Given the description of an element on the screen output the (x, y) to click on. 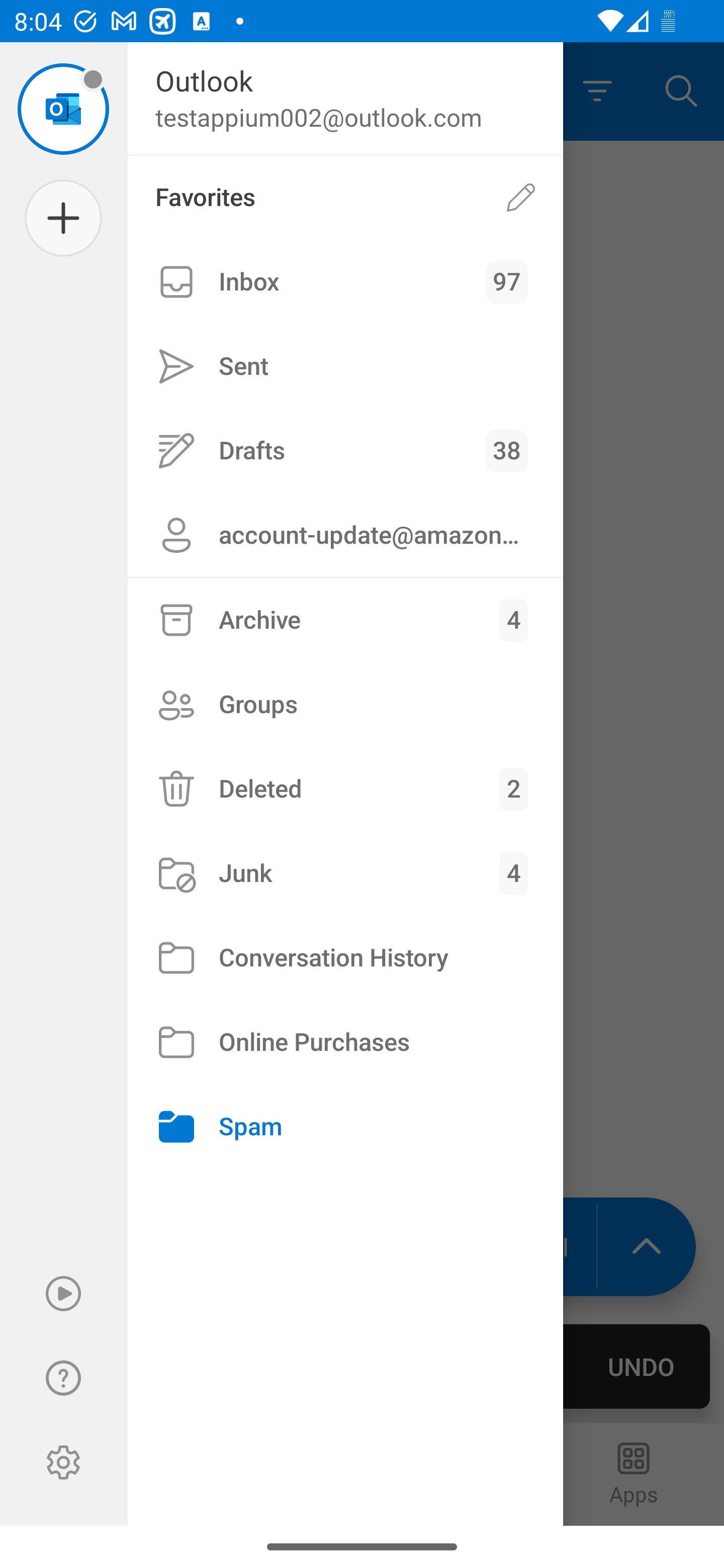
Edit favorites (520, 197)
Add account (63, 217)
Inbox Inbox, 97 unread emails (345, 281)
Sent (345, 366)
Drafts Drafts, 38 unread emails (345, 450)
account-update@amazon.com (345, 534)
Archive Archive, 2 of 8, level 1, 4 unread emails (345, 619)
Groups Groups, 3 of 8, level 1 (345, 703)
Deleted Deleted, 4 of 8, level 1, 2 unread emails (345, 788)
Junk Junk, 5 of 8, level 1, 4 unread emails (345, 873)
Online Purchases Online Purchases, 7 of 8, level 1 (345, 1042)
Spam Spam, 8 of 8, level 1,Selected (345, 1127)
Play My Emails (62, 1293)
Help (62, 1377)
Settings (62, 1462)
